Given the description of an element on the screen output the (x, y) to click on. 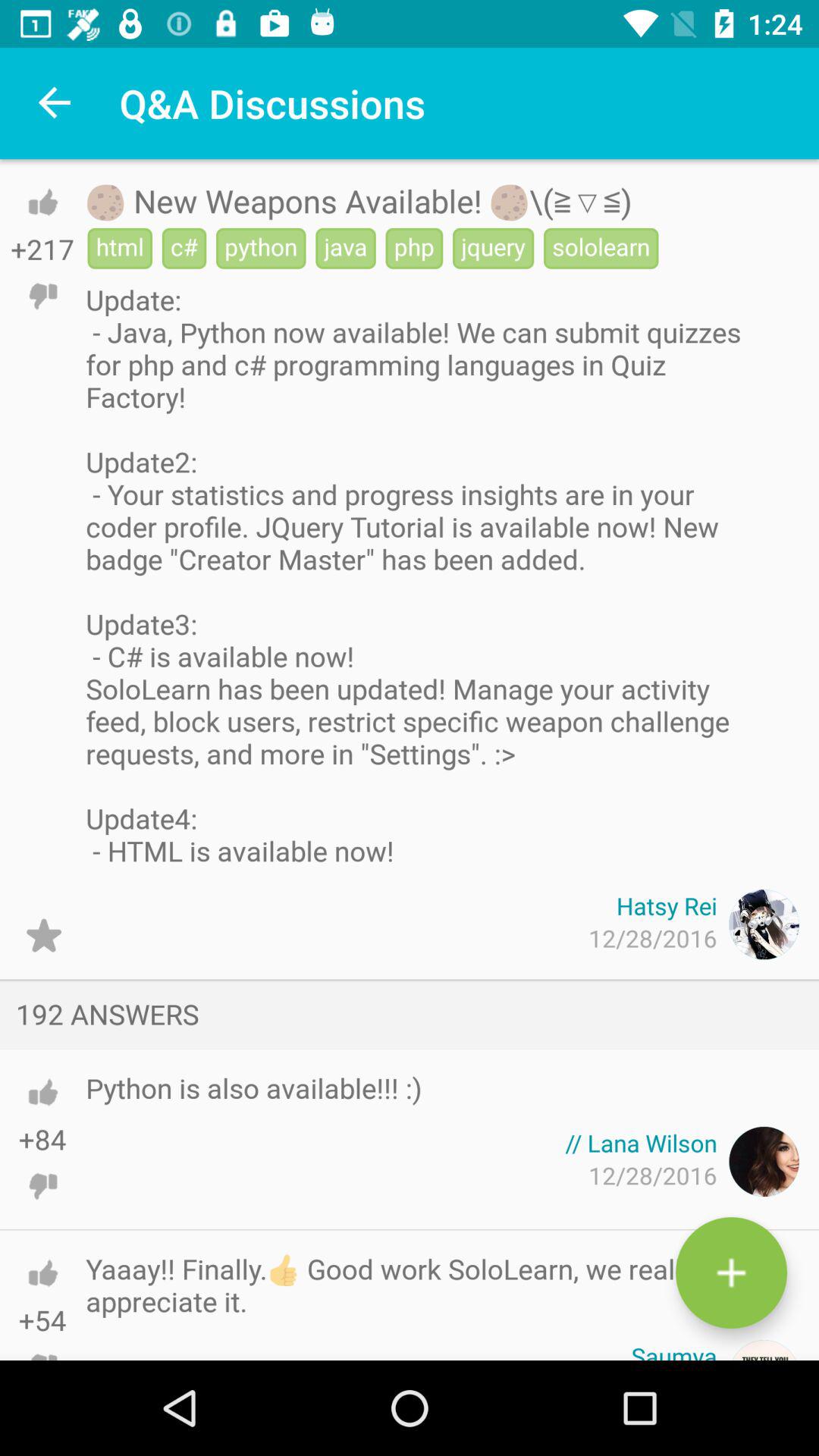
like the discussion (42, 202)
